Given the description of an element on the screen output the (x, y) to click on. 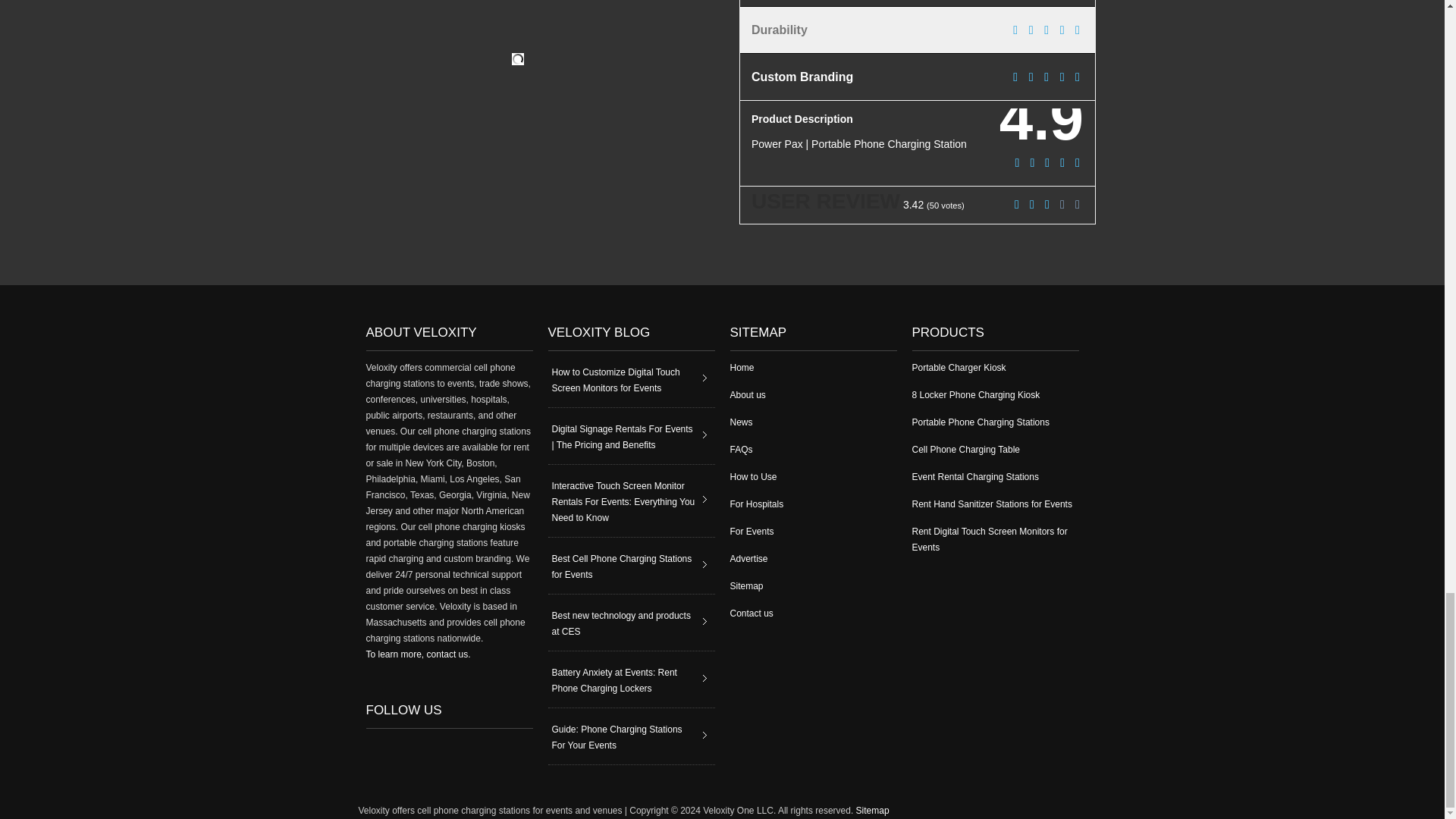
To learn more, contact us. (417, 654)
